Given the description of an element on the screen output the (x, y) to click on. 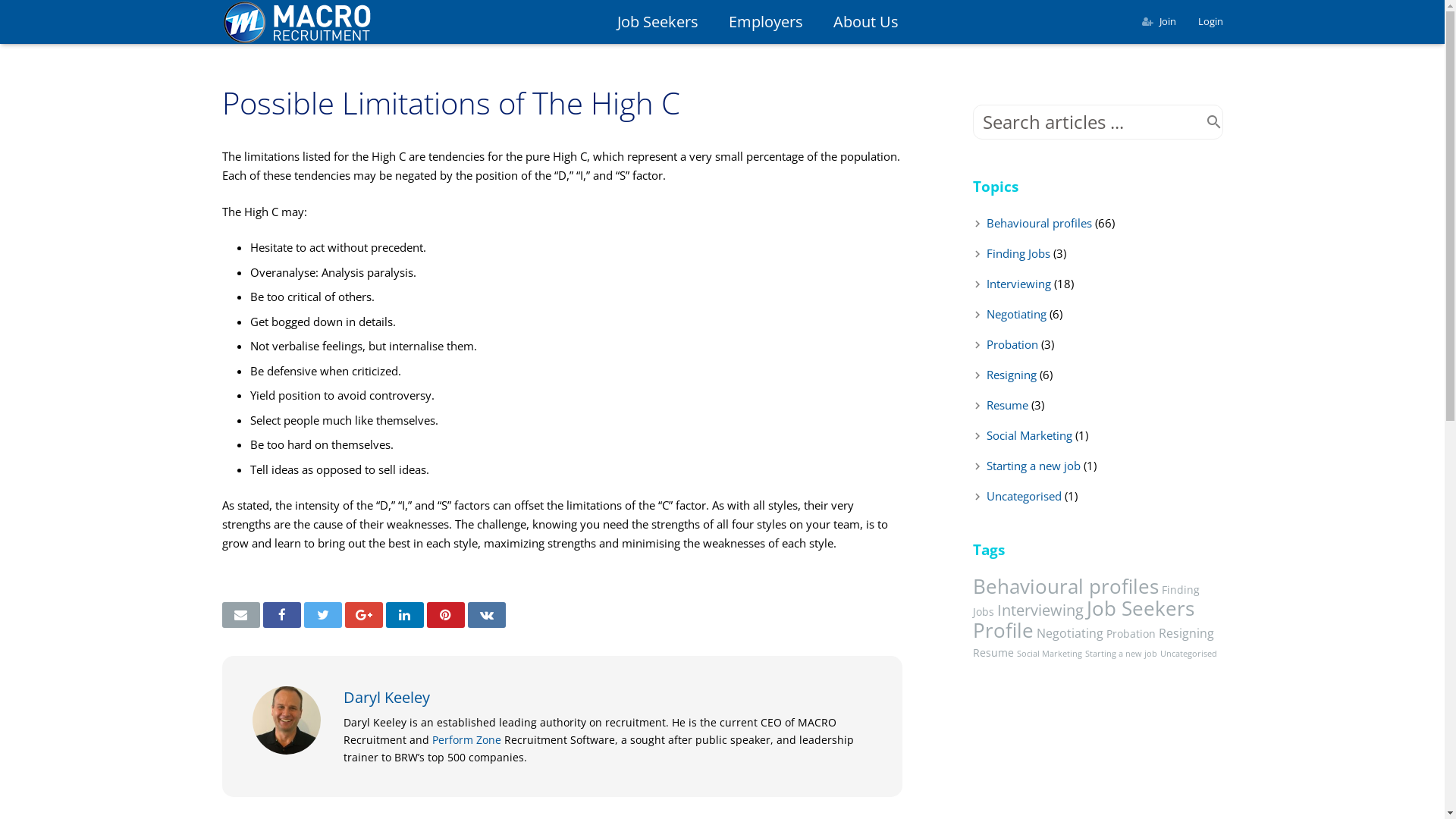
Employers Element type: text (765, 22)
Behavioural profiles Element type: text (1038, 222)
Uncategorised Element type: text (1022, 495)
About Us Element type: text (865, 22)
Resume Element type: text (1006, 404)
Social Marketing Element type: text (1048, 652)
Login Element type: text (1210, 21)
Probation Element type: text (1129, 633)
Behavioural profiles Element type: text (1064, 586)
Starting a new job Element type: text (1120, 652)
Join Element type: text (1167, 21)
Negotiating Element type: text (1015, 313)
Share this Element type: hover (486, 614)
Tweet this Element type: hover (322, 614)
Resigning Element type: text (1186, 632)
Interviewing Element type: text (1039, 609)
Perform Zone Element type: text (466, 739)
Social Marketing Element type: text (1028, 434)
Negotiating Element type: text (1068, 632)
Email this Element type: hover (240, 614)
Finding Jobs Element type: text (1017, 252)
Share this Element type: hover (404, 614)
Finding Jobs Element type: text (1085, 600)
Share this Element type: hover (281, 614)
Resigning Element type: text (1010, 374)
Uncategorised Element type: text (1188, 652)
Starting a new job Element type: text (1032, 465)
Interviewing Element type: text (1017, 283)
Share this Element type: hover (363, 614)
Daryl Keeley Element type: text (385, 697)
Job Seekers Element type: text (657, 22)
Job Seekers Profile Element type: text (1082, 618)
Resume Element type: text (992, 651)
Pin this Element type: hover (445, 614)
Probation Element type: text (1011, 343)
